Given the description of an element on the screen output the (x, y) to click on. 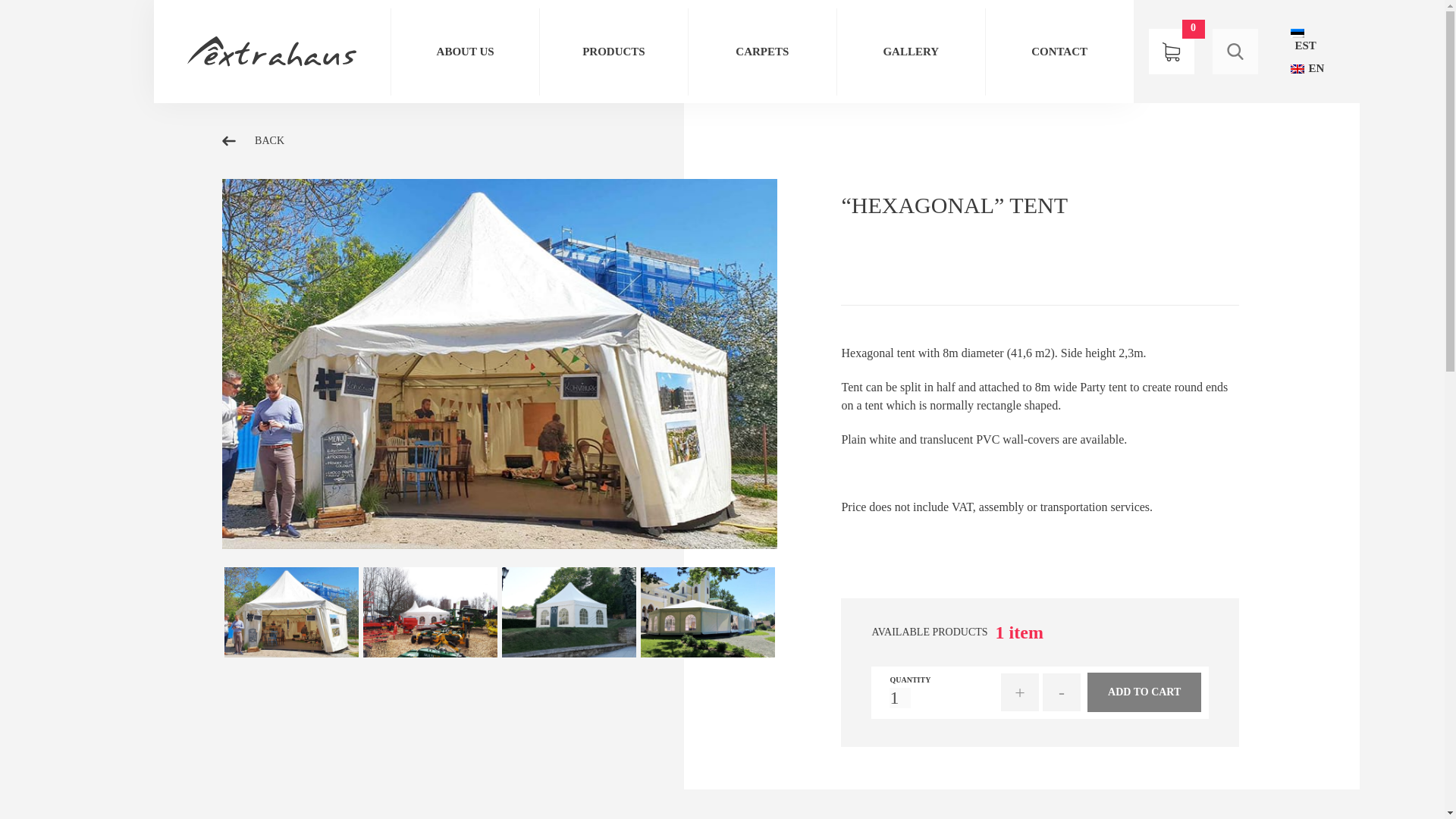
EST (1308, 39)
GALLERY (911, 51)
0 (1170, 51)
ABOUT US (464, 51)
CONTACT (1059, 51)
CARPETS (761, 51)
EN (1307, 68)
PRODUCTS (613, 51)
ADD TO CART (1143, 691)
1 (900, 697)
